Given the description of an element on the screen output the (x, y) to click on. 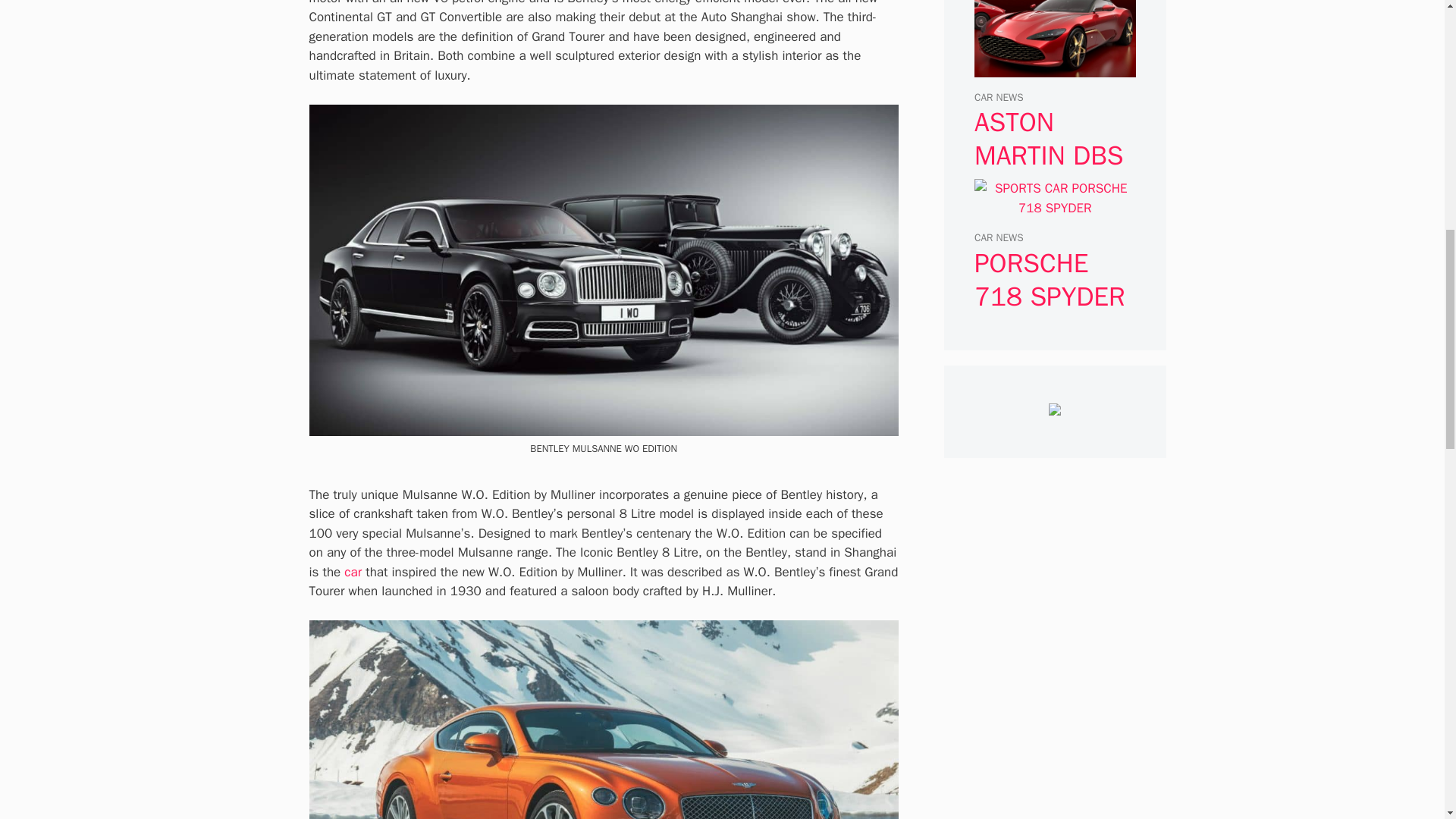
CAR NEWS (998, 97)
PORSCHE 718 SPYDER (1049, 279)
ASTON MARTIN DBS GT ZAGATO (1054, 66)
CAR NEWS (998, 237)
ASTON MARTIN DBS GT ZAGATO (1049, 155)
PORSCHE 718 SPYDER (1054, 207)
car (352, 571)
